Given the description of an element on the screen output the (x, y) to click on. 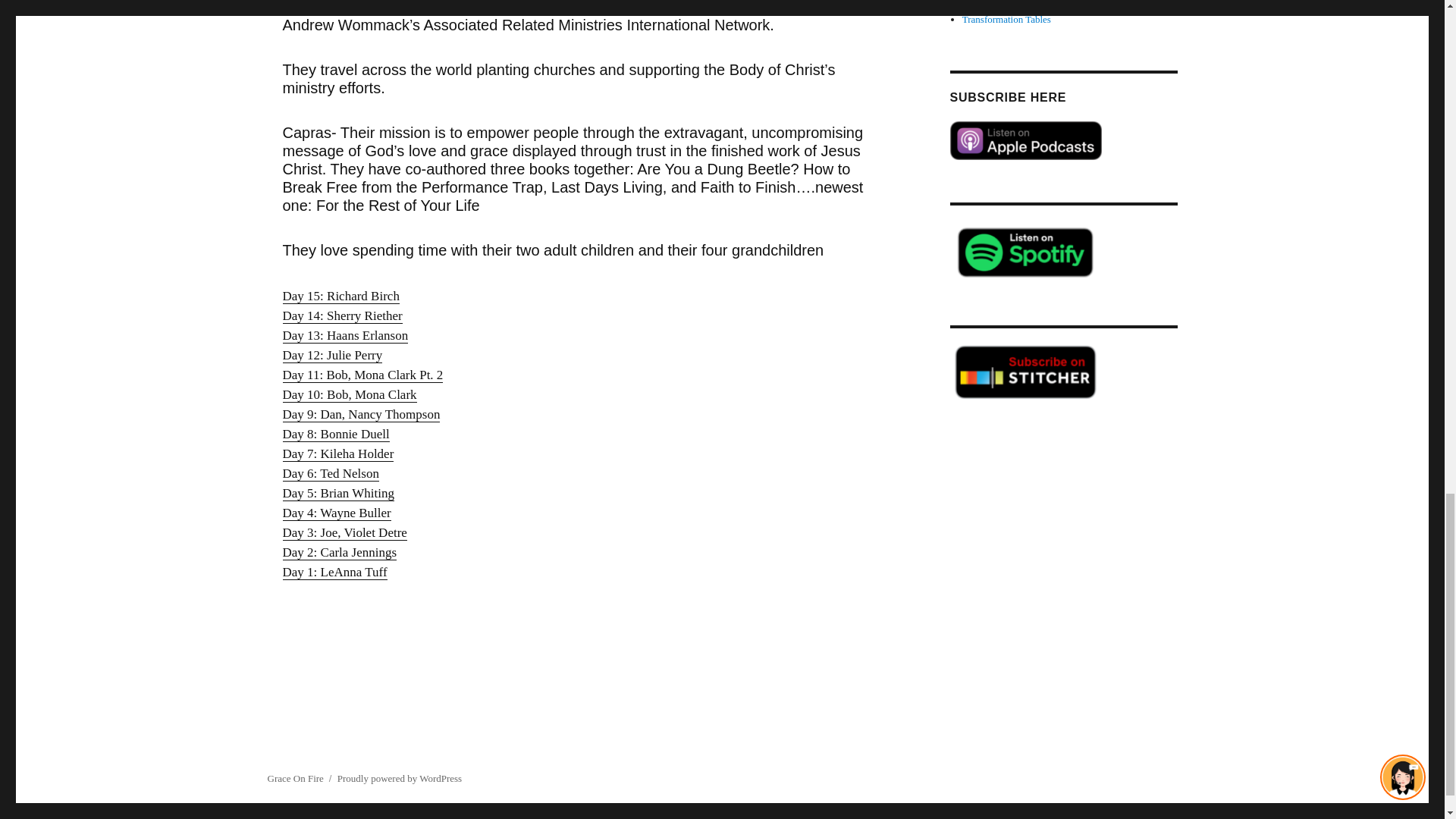
Day 10: Bob, Mona Clark (349, 394)
Day 7: Kileha Holder (337, 453)
Day 11: Bob, Mona Clark Pt. 2 (362, 374)
Day 13: Haans Erlanson (344, 335)
Day 14: Sherry Riether (341, 315)
Day 12: Julie Perry (331, 355)
Day 6: Ted Nelson (330, 473)
Day 8: Bonnie Duell (335, 433)
Day 9: Dan, Nancy Thompson (360, 414)
Day 15: Richard Birch (340, 296)
